Given the description of an element on the screen output the (x, y) to click on. 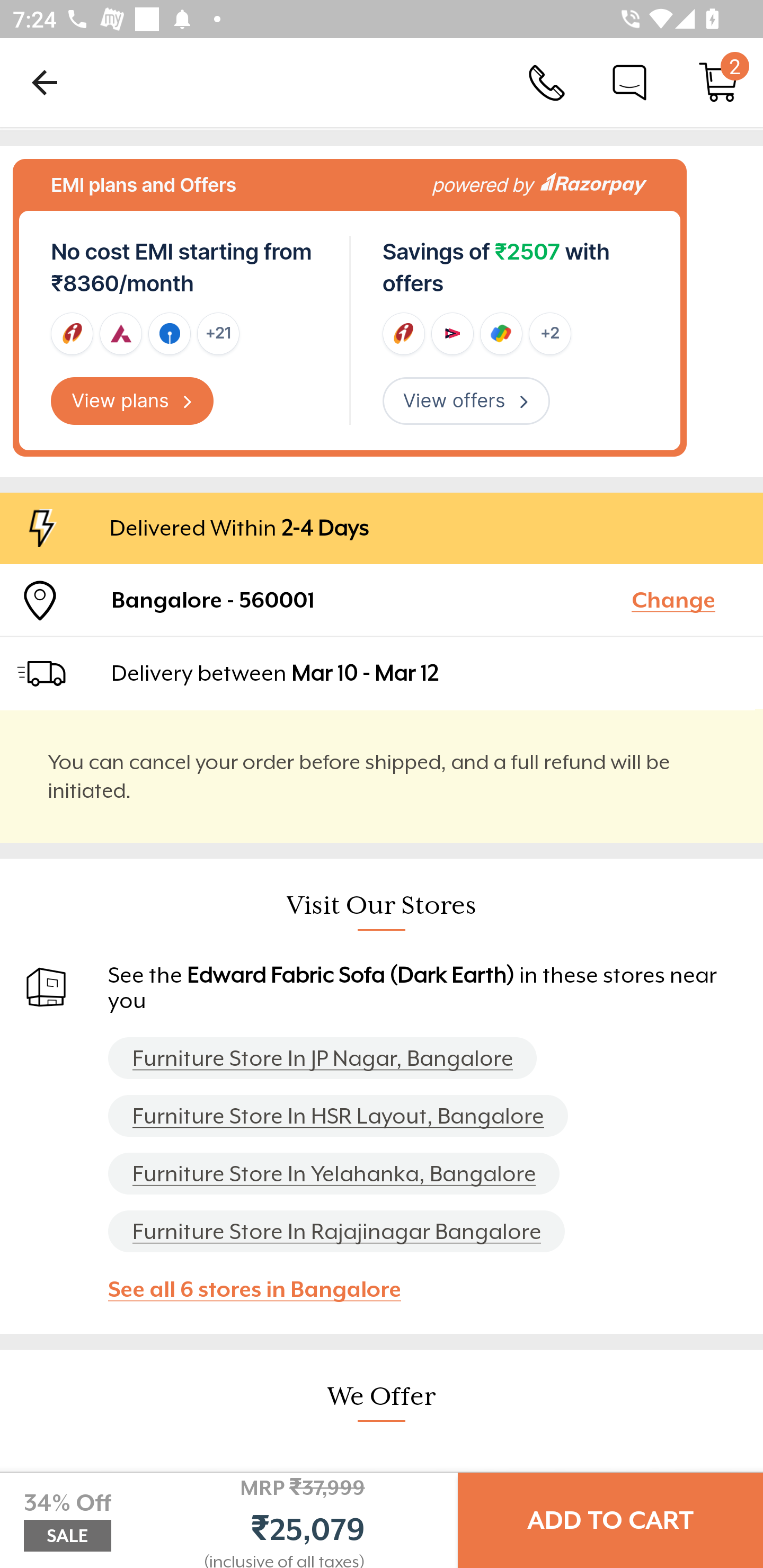
Navigate up (44, 82)
Call Us (546, 81)
Chat (629, 81)
Cart (718, 81)
View plans (132, 401)
View offers (465, 401)
 Bangalore - 560001 Change (381, 599)
Delivery between Mar 10 - Mar 12 (428, 673)
Furniture Store In JP Nagar, Bangalore (322, 1057)
Furniture Store In HSR Layout, Bangalore (337, 1115)
Furniture Store In Yelahanka, Bangalore (333, 1173)
Furniture Store In Rajajinagar Bangalore (336, 1231)
See all 6 stores in Bangalore (262, 1289)
ADD TO CART (610, 1520)
